Given the description of an element on the screen output the (x, y) to click on. 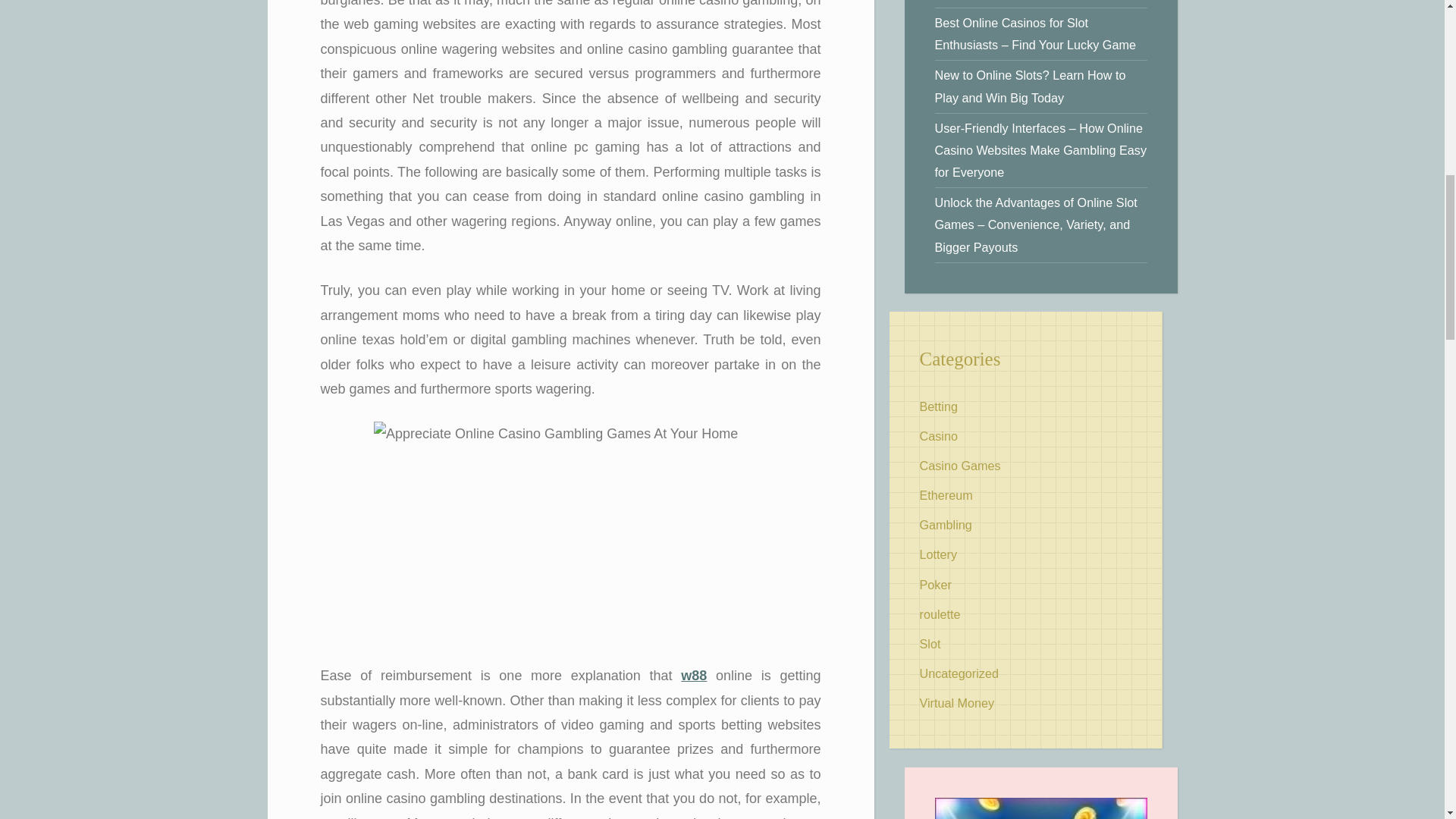
Uncategorized (957, 673)
w88 (693, 675)
Slot (929, 643)
New to Online Slots? Learn How to Play and Win Big Today (1029, 85)
Ethereum (945, 495)
Betting (937, 406)
Virtual Money (956, 703)
Casino (937, 436)
roulette (938, 613)
Gambling (944, 524)
Lottery (937, 554)
Poker (934, 584)
Casino Games (959, 465)
